Given the description of an element on the screen output the (x, y) to click on. 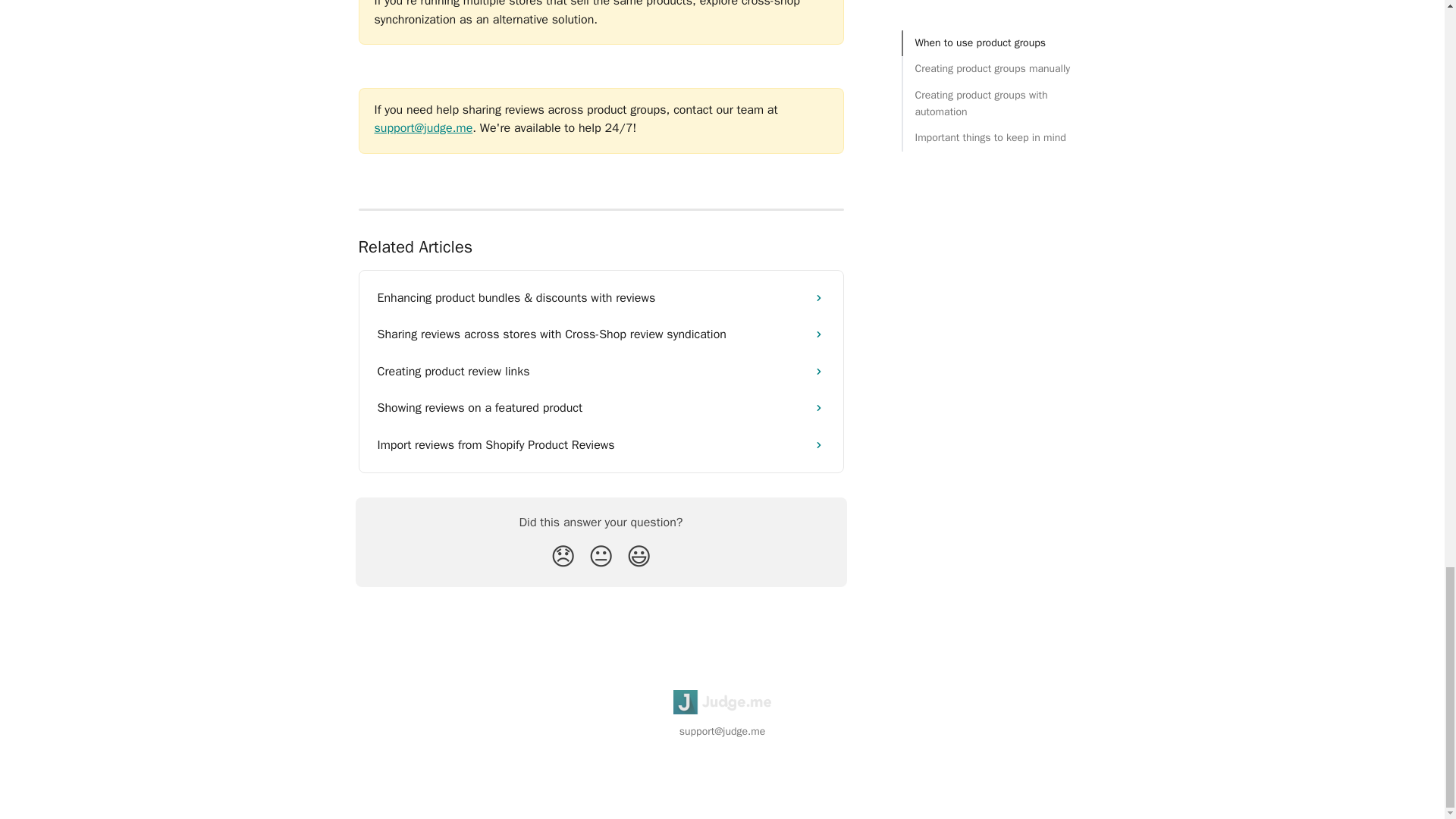
Showing reviews on a featured product (601, 407)
Import reviews from Shopify Product Reviews (601, 444)
Creating product review links (601, 370)
